Given the description of an element on the screen output the (x, y) to click on. 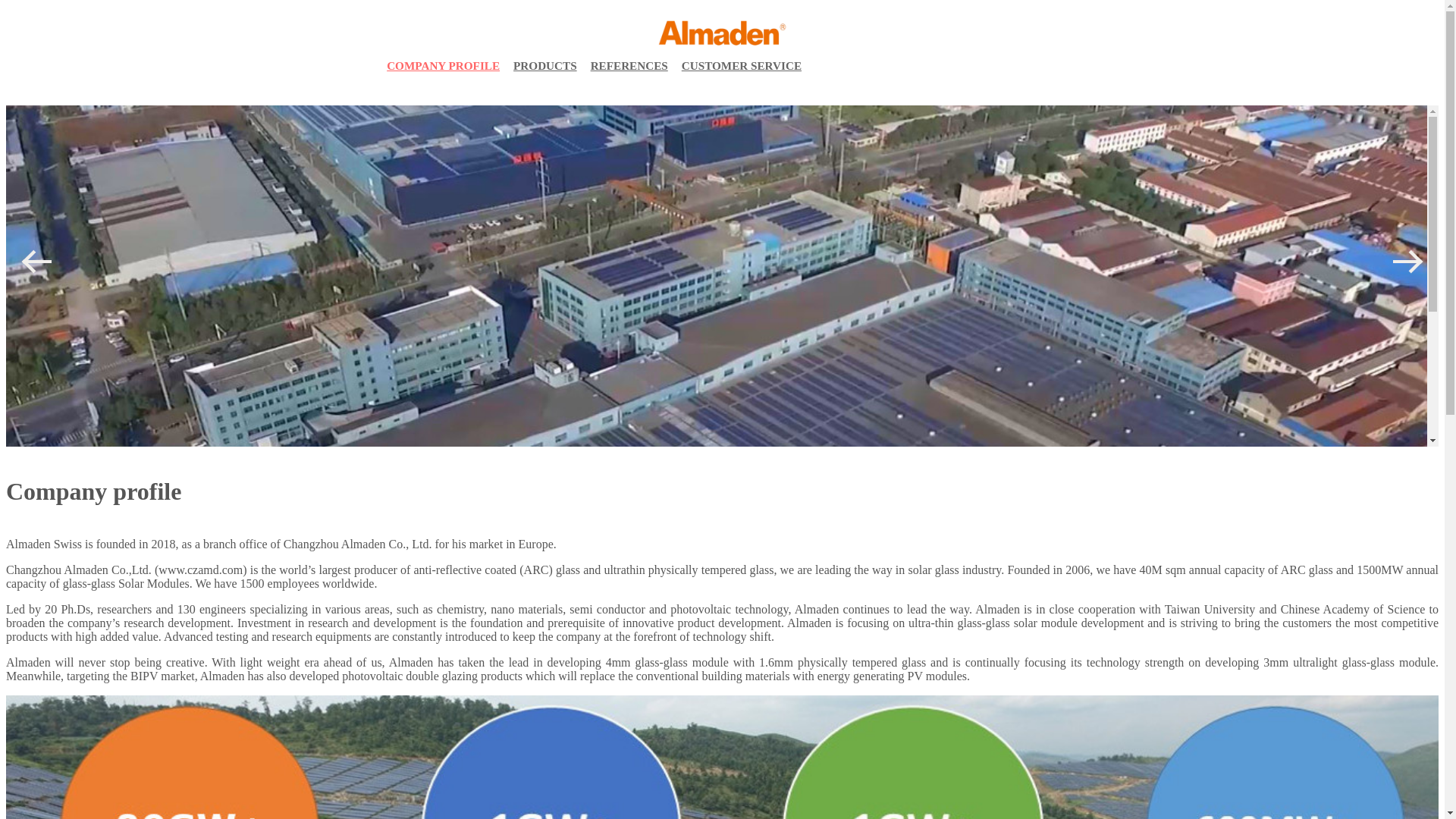
REFERENCES Element type: text (629, 65)
COMPANY PROFILE Element type: text (443, 65)
CUSTOMER SERVICE Element type: text (741, 65)
PRODUCTS Element type: text (545, 65)
